Given the description of an element on the screen output the (x, y) to click on. 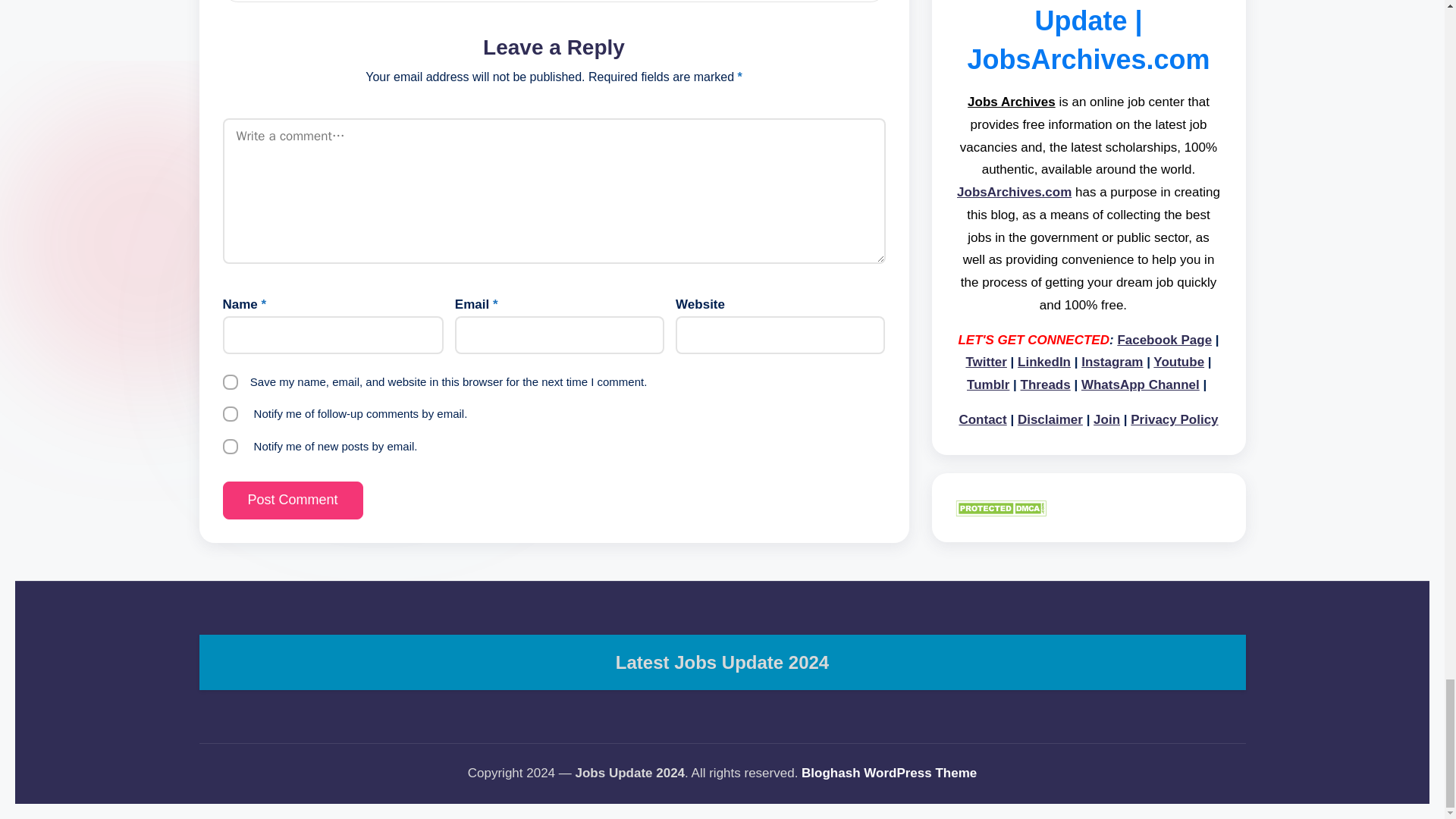
Post Comment (292, 500)
subscribe (230, 413)
yes (230, 381)
subscribe (230, 446)
